Given the description of an element on the screen output the (x, y) to click on. 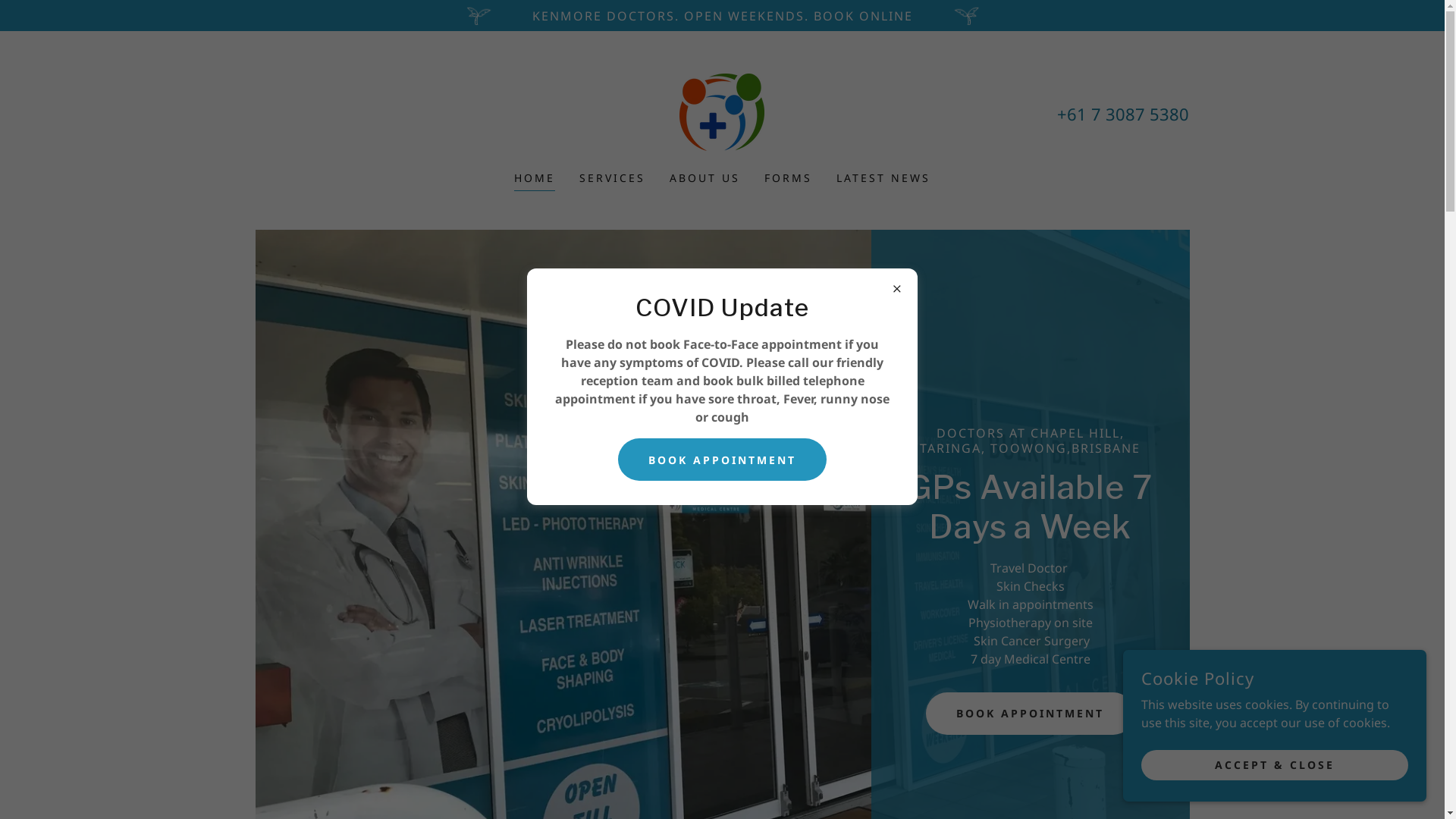
KENMORE DOCTORS. OPEN WEEKENDS. BOOK ONLINE Element type: text (722, 15)
FORMS Element type: text (787, 177)
ABOUT US Element type: text (704, 177)
SERVICES Element type: text (611, 177)
BOOK APPOINTMENT Element type: text (722, 459)
HOME Element type: text (534, 180)
ACCEPT & CLOSE Element type: text (1274, 764)
BOOK APPOINTMENT Element type: text (1029, 713)
+61 7 3087 5380 Element type: text (1123, 112)
LATEST NEWS Element type: text (883, 177)
